Given the description of an element on the screen output the (x, y) to click on. 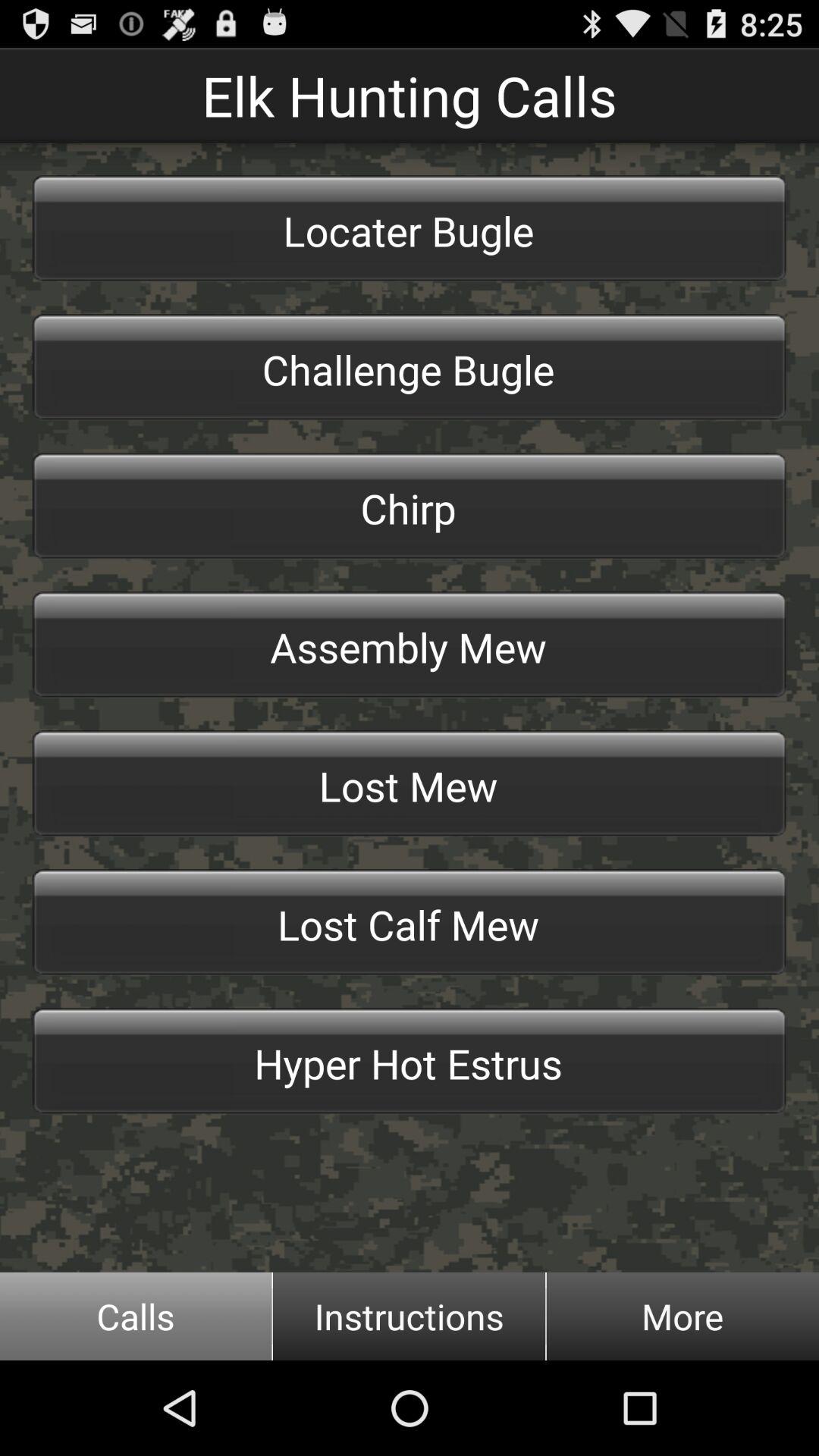
press the item above the lost mew item (409, 644)
